Given the description of an element on the screen output the (x, y) to click on. 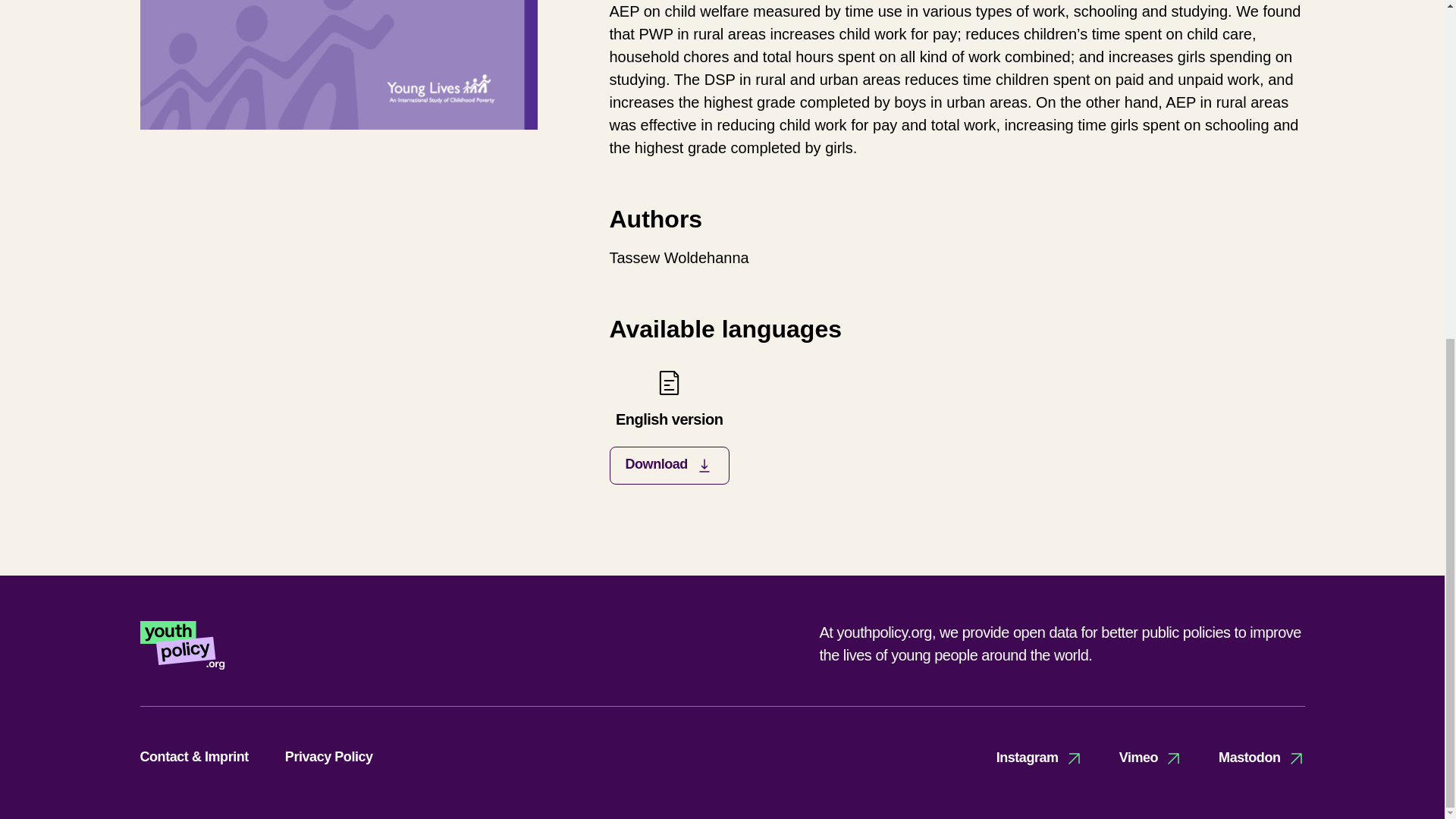
Instagram (1039, 757)
Privacy Policy (328, 757)
Vimeo (669, 425)
Mastodon (1150, 757)
